Given the description of an element on the screen output the (x, y) to click on. 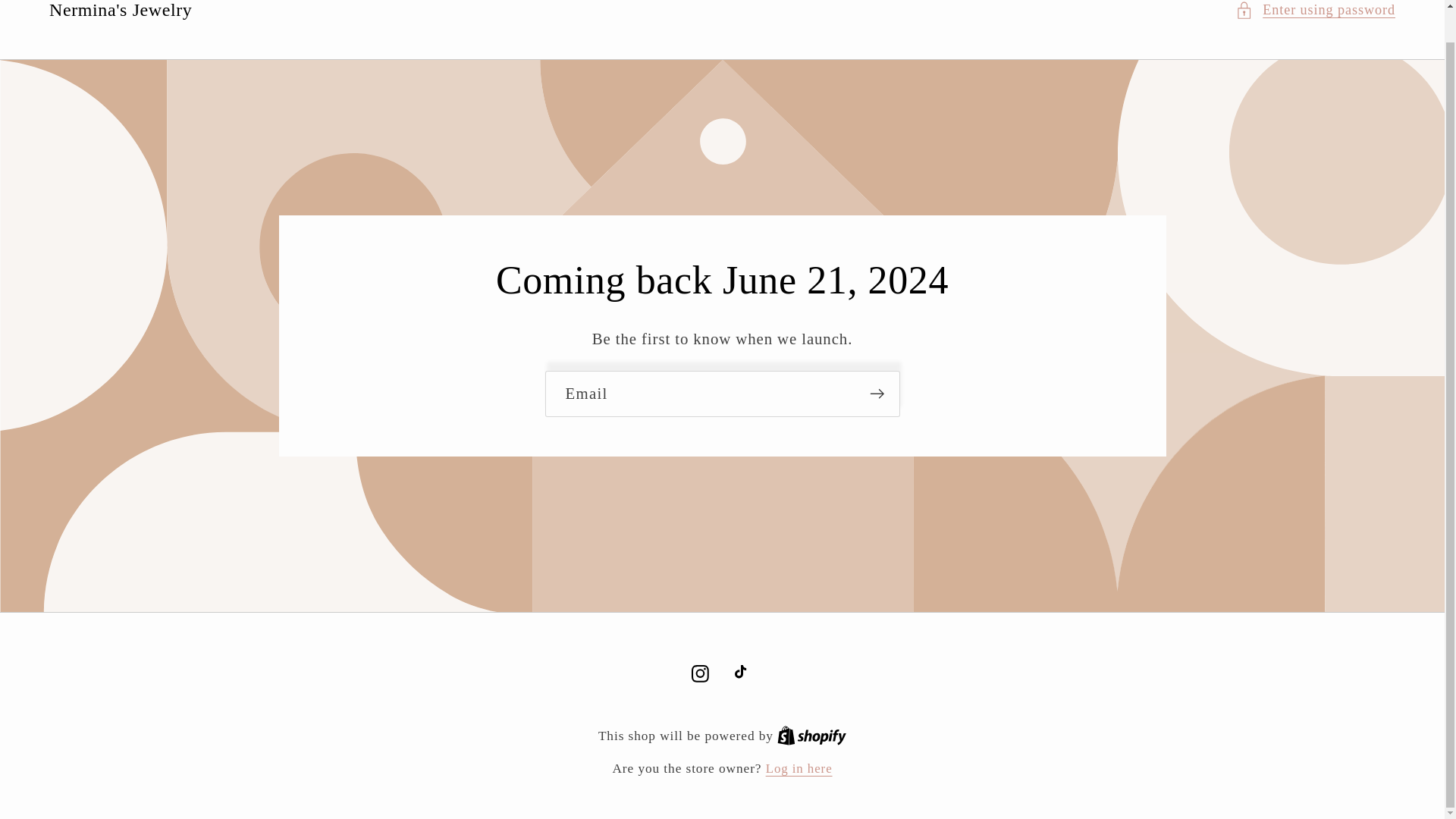
Shopify logo (811, 735)
Instagram (811, 735)
Create your own online store with Shopify (700, 673)
TikTok (811, 735)
Skip to content (743, 673)
Log in here (59, 6)
